Given the description of an element on the screen output the (x, y) to click on. 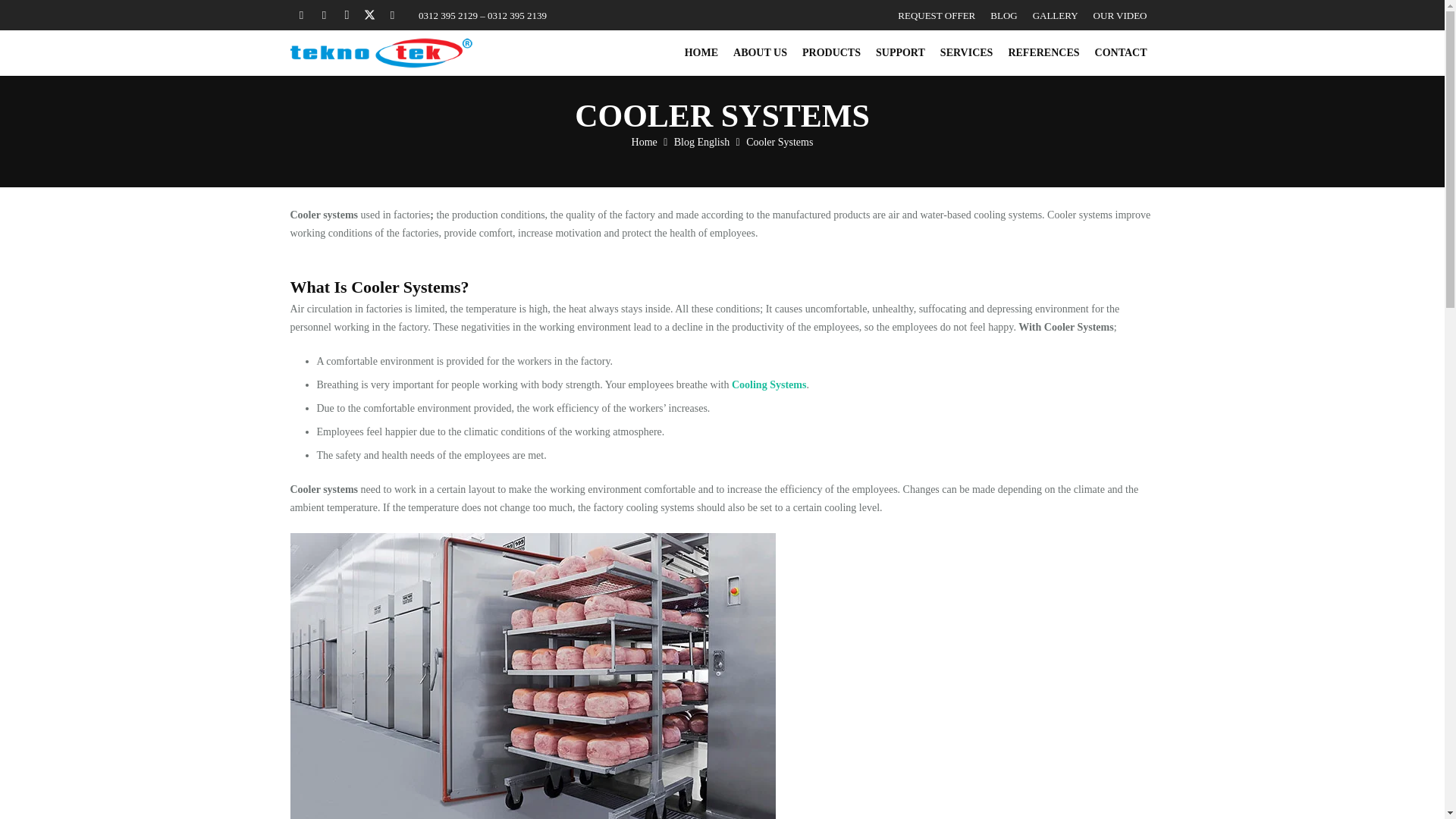
Twitter (369, 15)
PRODUCTS (830, 52)
Title (323, 15)
Cooling Systems (769, 384)
HOME (701, 52)
YouTube (391, 15)
ABOUT US (759, 52)
Instagram (346, 15)
REFERENCES (1043, 52)
SERVICES (967, 52)
GALLERY (1055, 15)
Facebook (301, 15)
SUPPORT (900, 52)
REQUEST OFFER (935, 15)
Home (644, 142)
